Given the description of an element on the screen output the (x, y) to click on. 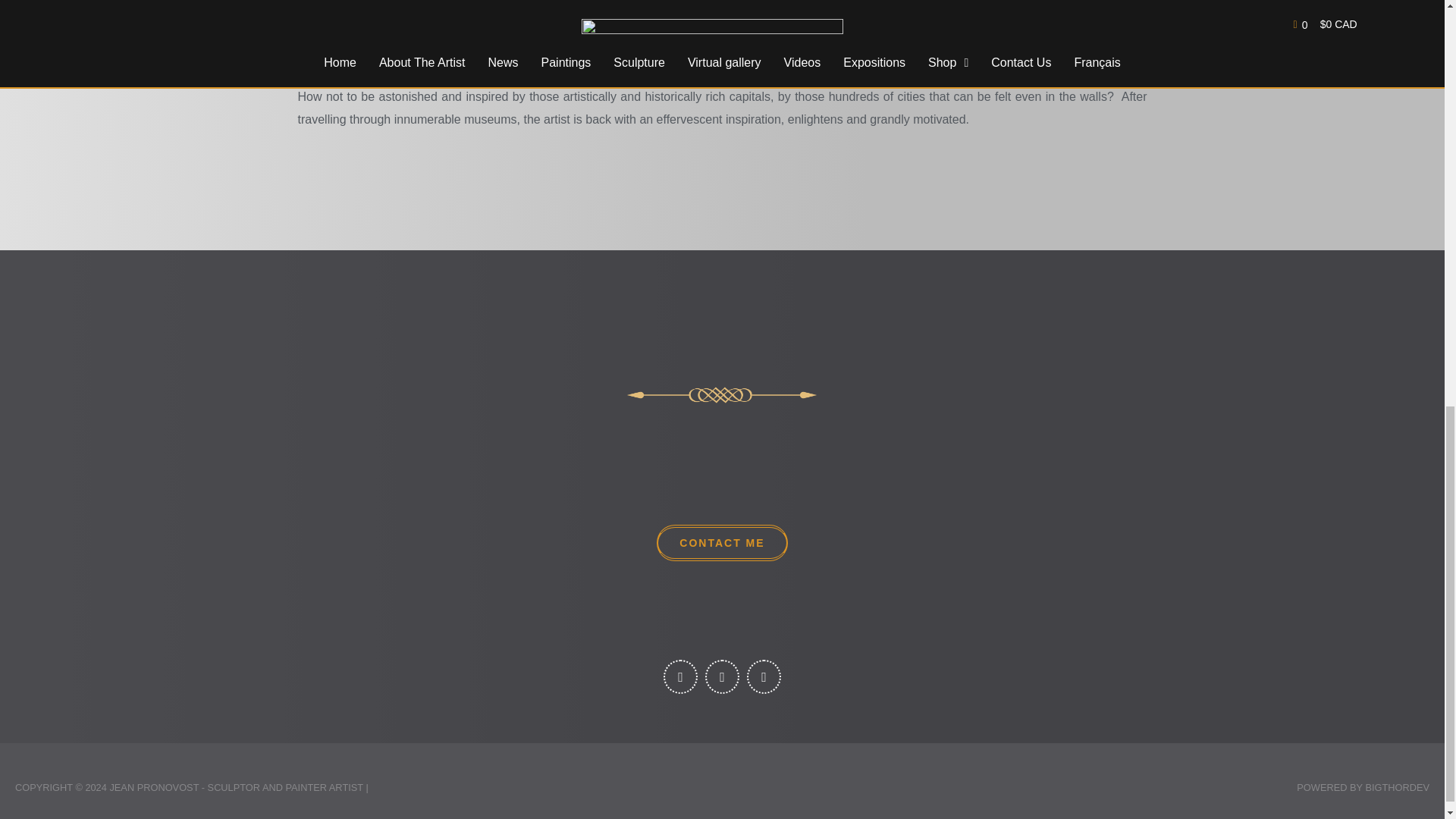
Ernst Fuchs (454, 30)
Facebook (680, 676)
Instagram (721, 676)
CONTACT ME (721, 542)
